Given the description of an element on the screen output the (x, y) to click on. 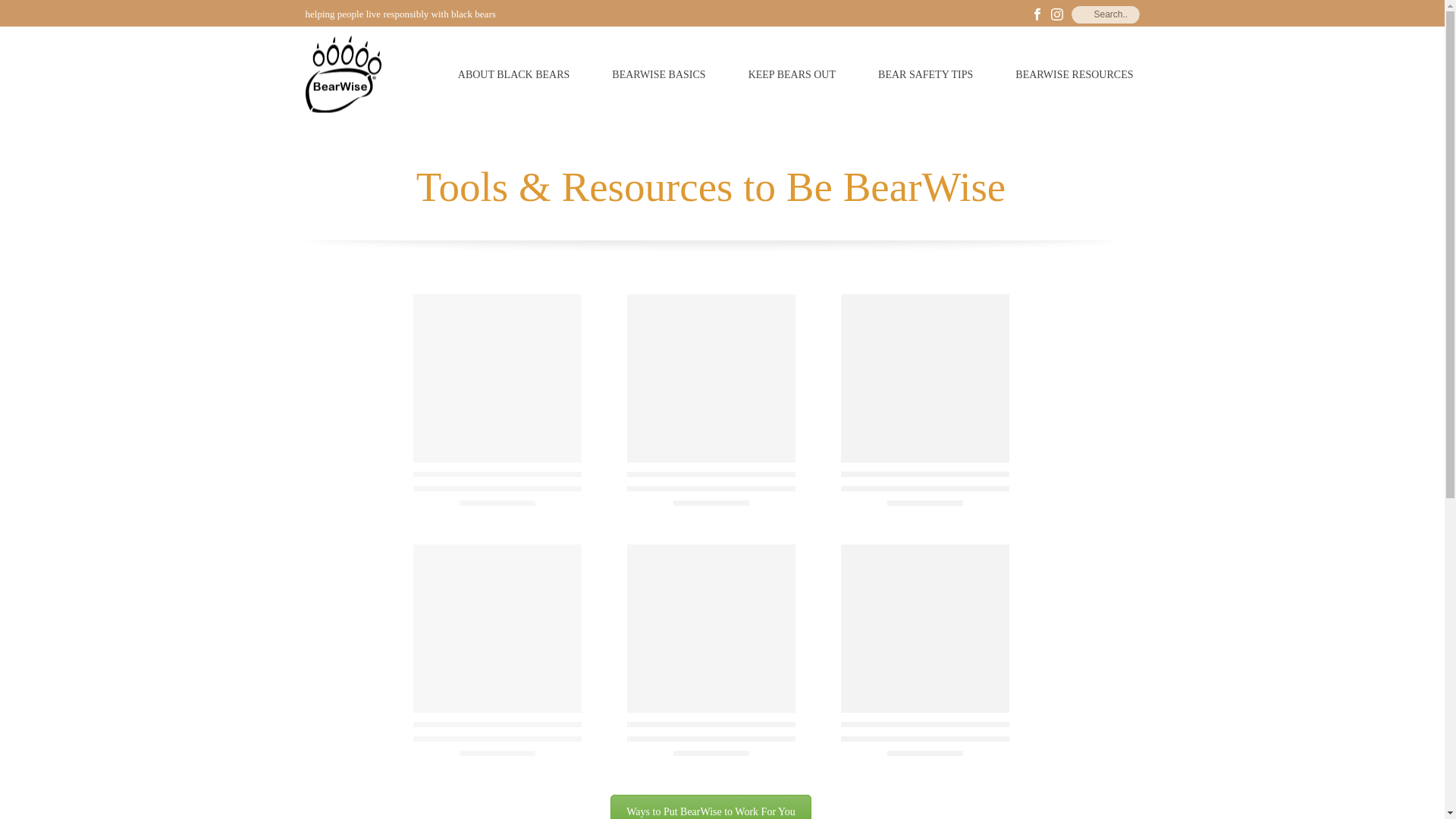
BEARWISE BASICS (658, 75)
ABOUT BLACK BEARS (513, 75)
BEARWISE BASICS (658, 75)
KEEP BEARS OUT (791, 75)
BEARWISE RESOURCES (1074, 75)
KEEP BEARS OUT (791, 75)
BEAR SAFETY TIPS (925, 75)
ABOUT BLACK BEARS (513, 75)
Helping people live responsibly with black bears (342, 74)
BEARWISE RESOURCES (1074, 75)
BEAR SAFETY TIPS (925, 75)
BearWise Materials In Action (710, 806)
